Given the description of an element on the screen output the (x, y) to click on. 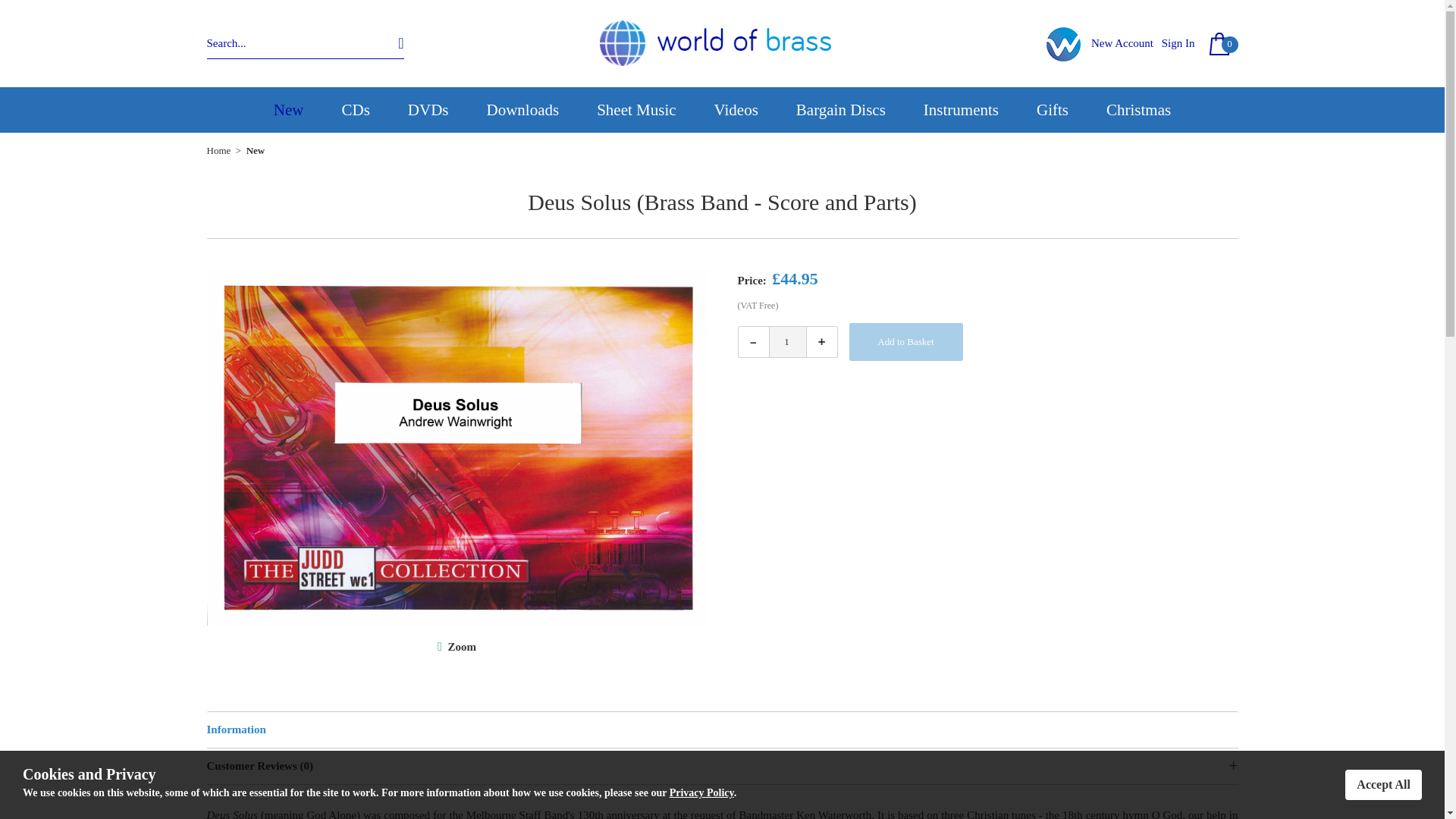
Sign In (1178, 42)
Zoom (461, 646)
New Account (1121, 42)
1 (787, 341)
Information (721, 729)
Add to Basket (905, 341)
